Given the description of an element on the screen output the (x, y) to click on. 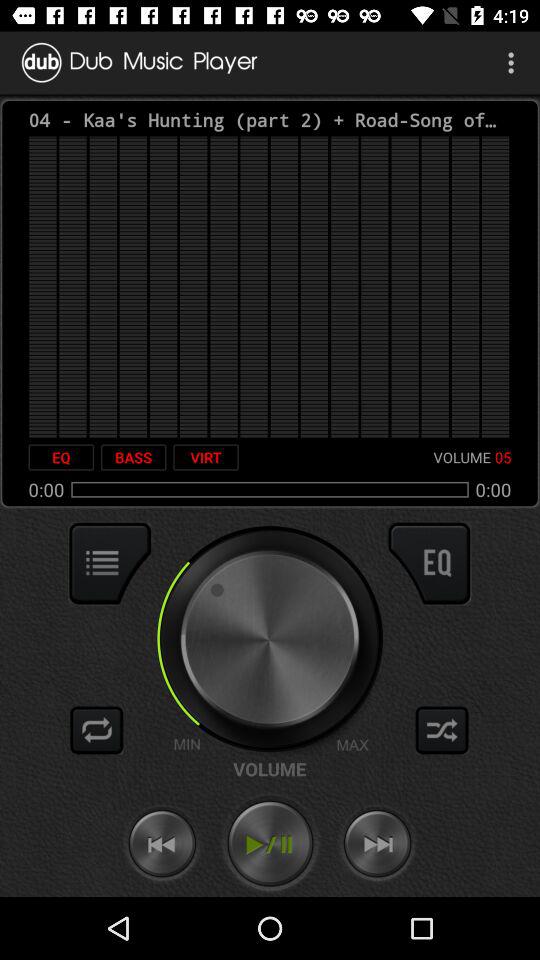
hidden menu option (110, 563)
